Given the description of an element on the screen output the (x, y) to click on. 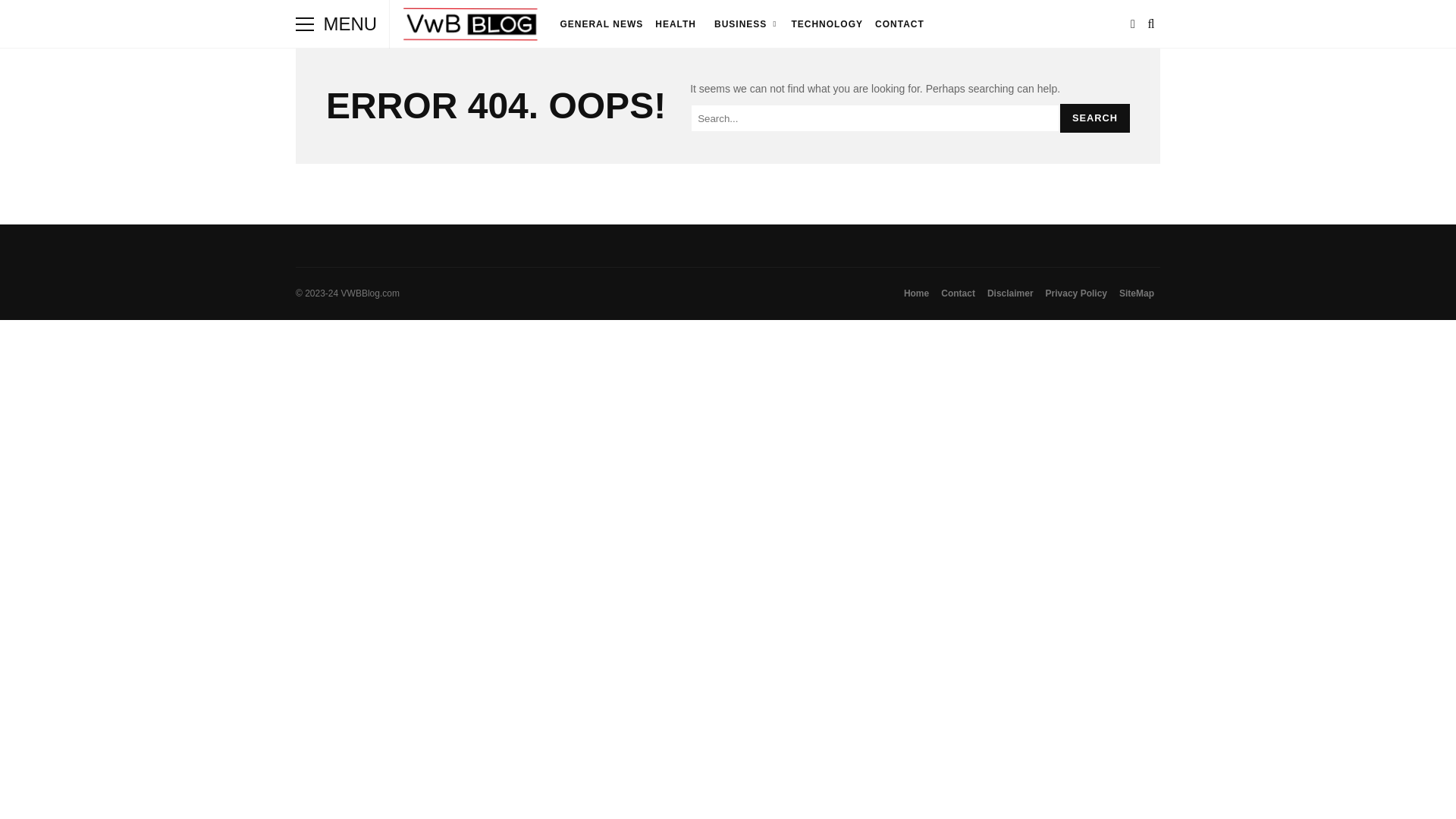
GENERAL NEWS (601, 24)
BUSINESS (742, 24)
CONTACT (899, 24)
VWB Blog (471, 27)
SEARCH (1094, 118)
TECHNOLOGY (826, 24)
Contact (957, 293)
Home (916, 293)
HEALTH (675, 24)
